Given the description of an element on the screen output the (x, y) to click on. 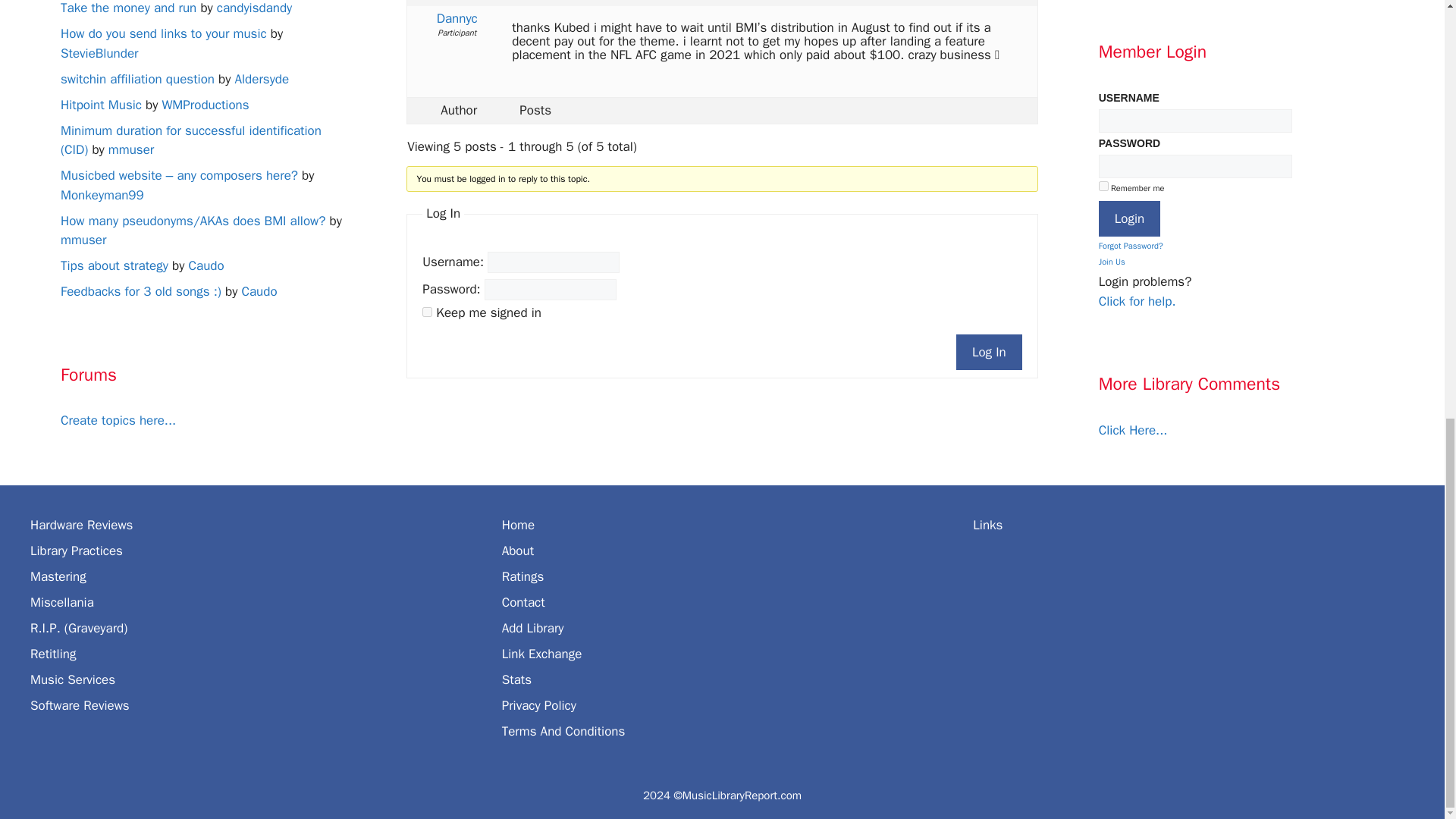
forever (1103, 185)
Login (1129, 218)
View Dannyc's profile (456, 18)
forever (427, 311)
